Given the description of an element on the screen output the (x, y) to click on. 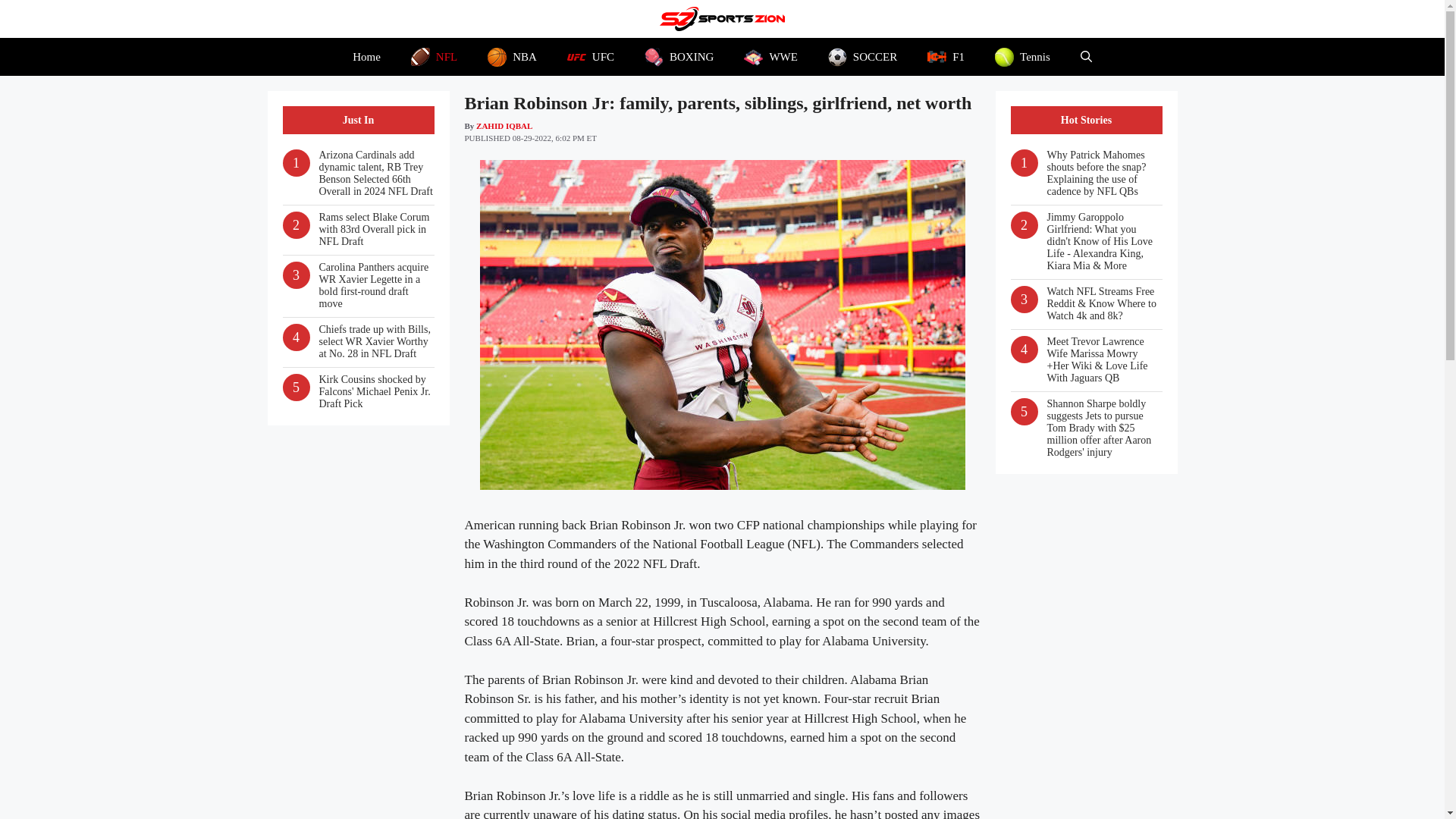
F1 (945, 56)
BOXING (678, 56)
View all posts by Zahid Iqbal (504, 125)
WWE (770, 56)
UFC (589, 56)
SOCCER (862, 56)
Tennis (1022, 56)
ZAHID IQBAL (504, 125)
NBA (511, 56)
